Given the description of an element on the screen output the (x, y) to click on. 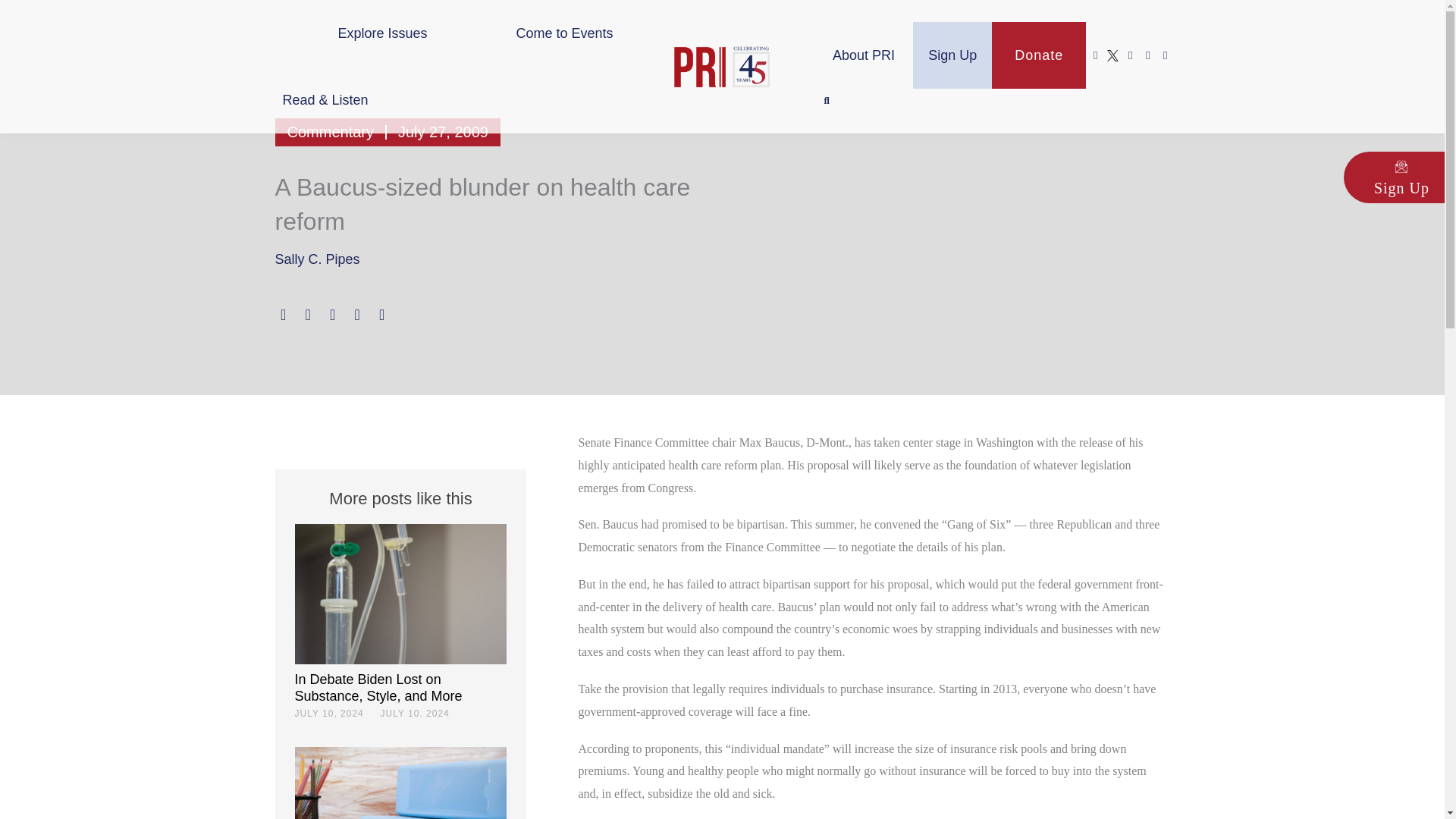
Explore Issues (381, 33)
Come to Events (563, 33)
